Given the description of an element on the screen output the (x, y) to click on. 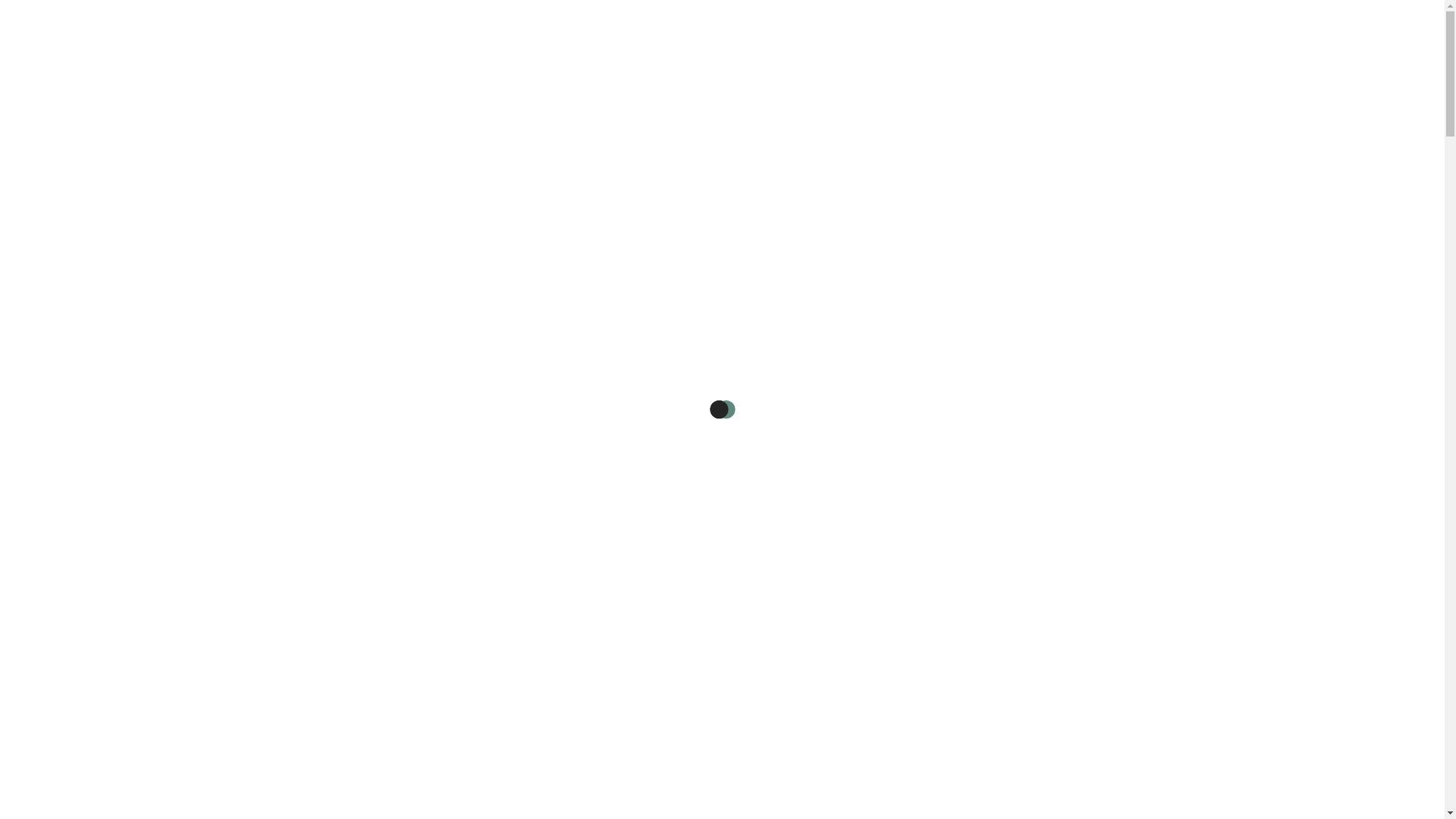
Linkedin Element type: text (1356, 84)
Instagram Element type: text (1303, 84)
Envelope Element type: text (1404, 84)
Facebook Element type: text (1246, 84)
